Given the description of an element on the screen output the (x, y) to click on. 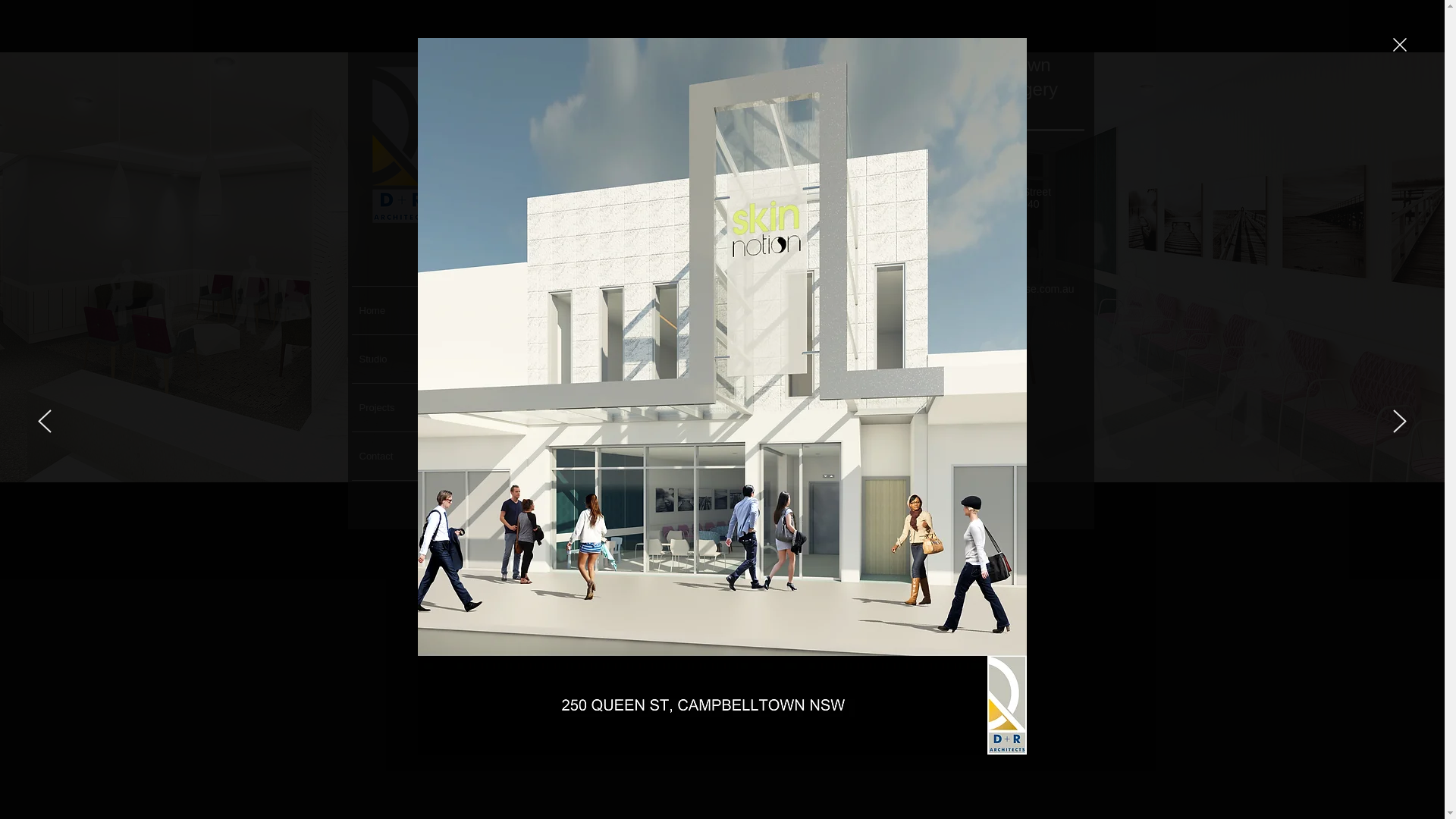
Studio Element type: text (403, 358)
Projects Element type: text (403, 407)
architects@drumrose.com.au Element type: text (1004, 288)
D+R_Logo.png Element type: hover (401, 152)
Home Element type: text (403, 310)
BACK Element type: text (984, 453)
Contact Element type: text (403, 456)
